Given the description of an element on the screen output the (x, y) to click on. 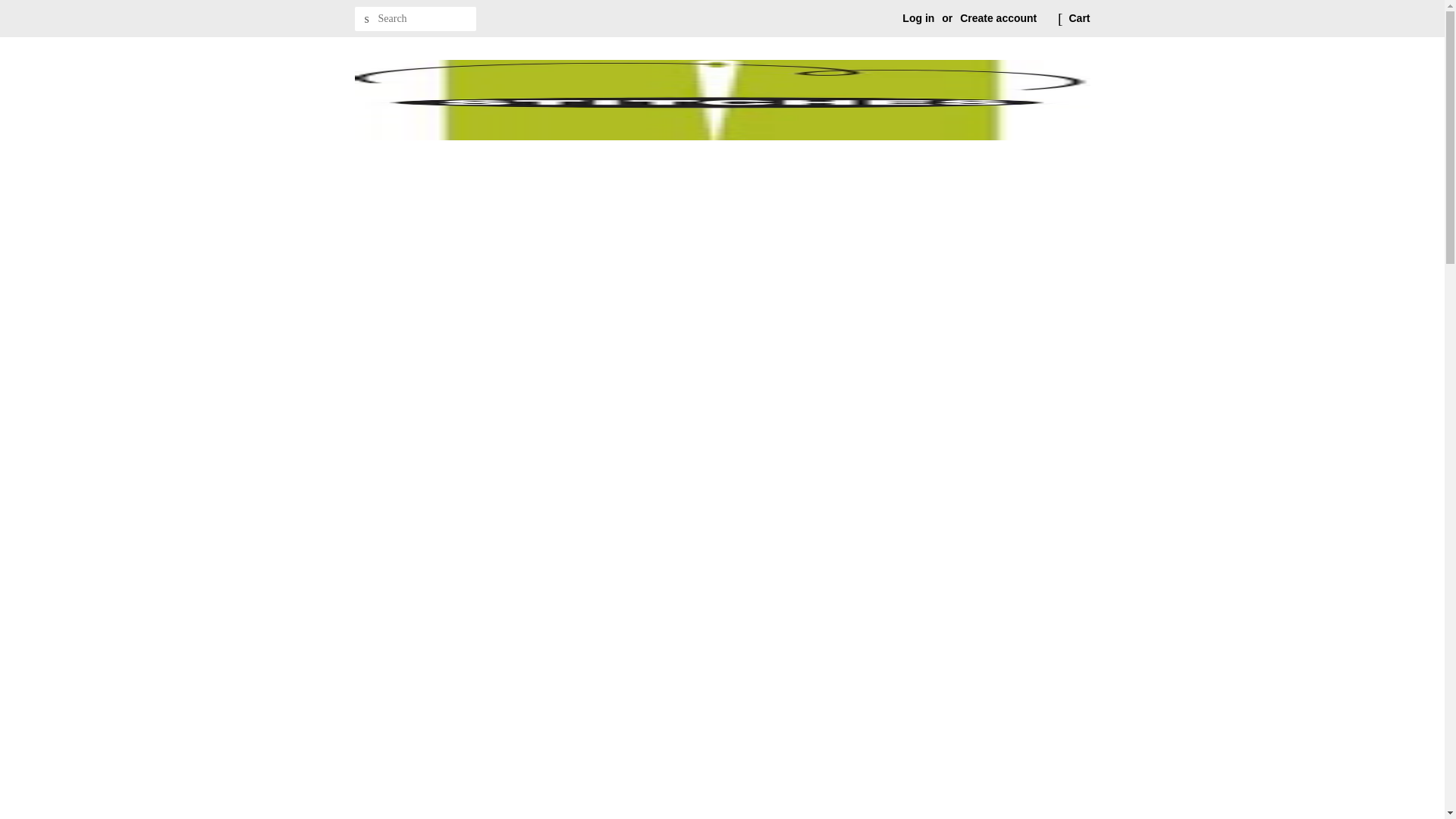
Cart (1078, 18)
Log in (918, 18)
Create account (997, 18)
Search (366, 18)
